Given the description of an element on the screen output the (x, y) to click on. 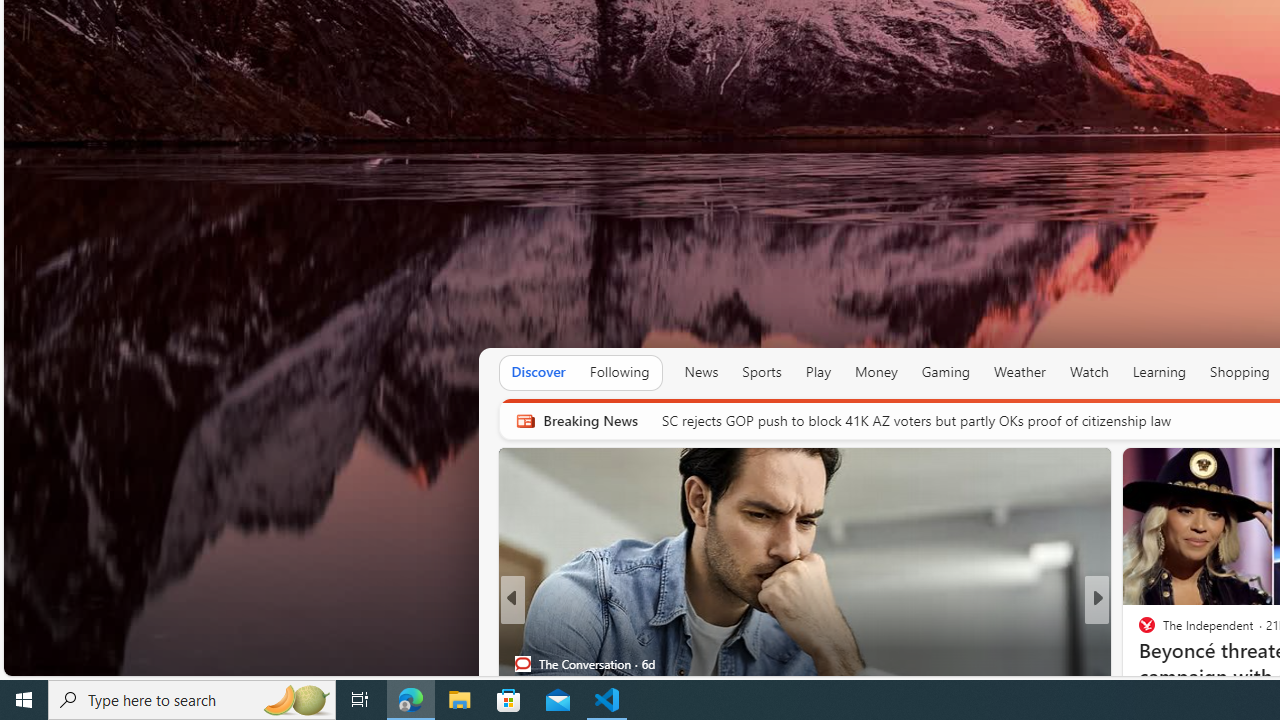
Axios (1138, 632)
CNN (1138, 632)
Shopping (1240, 371)
Yardbarker (1138, 632)
Inverse (1138, 632)
CNBC (1138, 632)
